Given the description of an element on the screen output the (x, y) to click on. 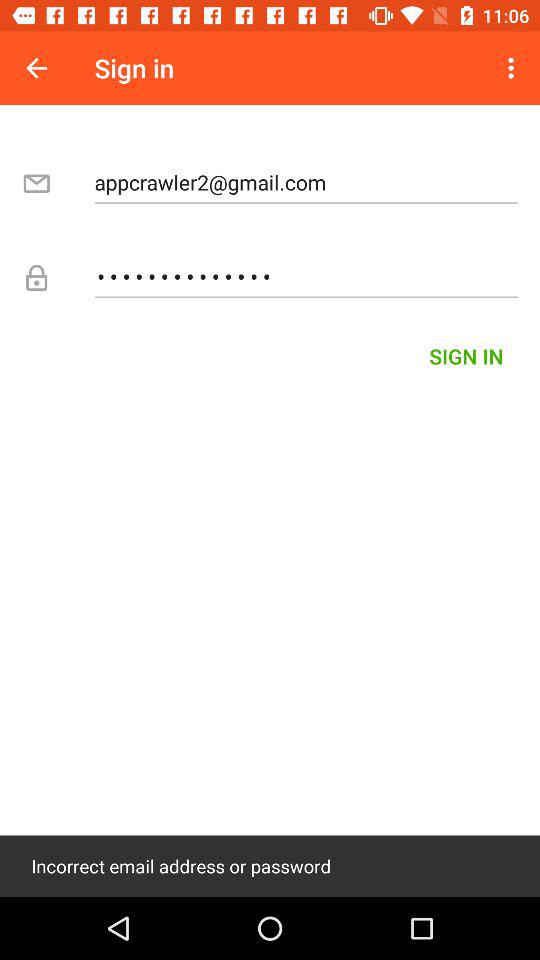
open icon to the left of the sign in item (36, 68)
